Given the description of an element on the screen output the (x, y) to click on. 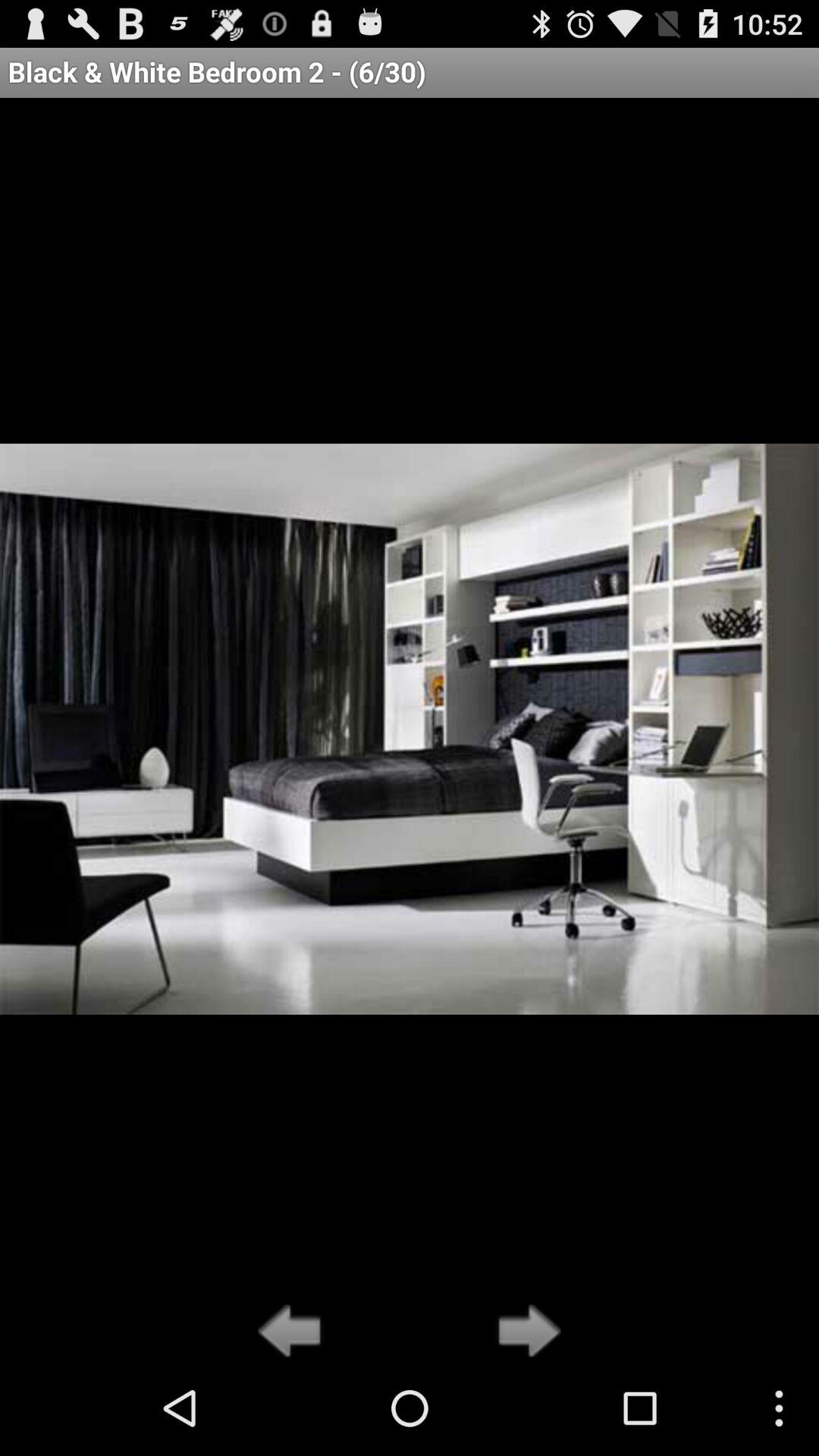
forward right (524, 1332)
